Given the description of an element on the screen output the (x, y) to click on. 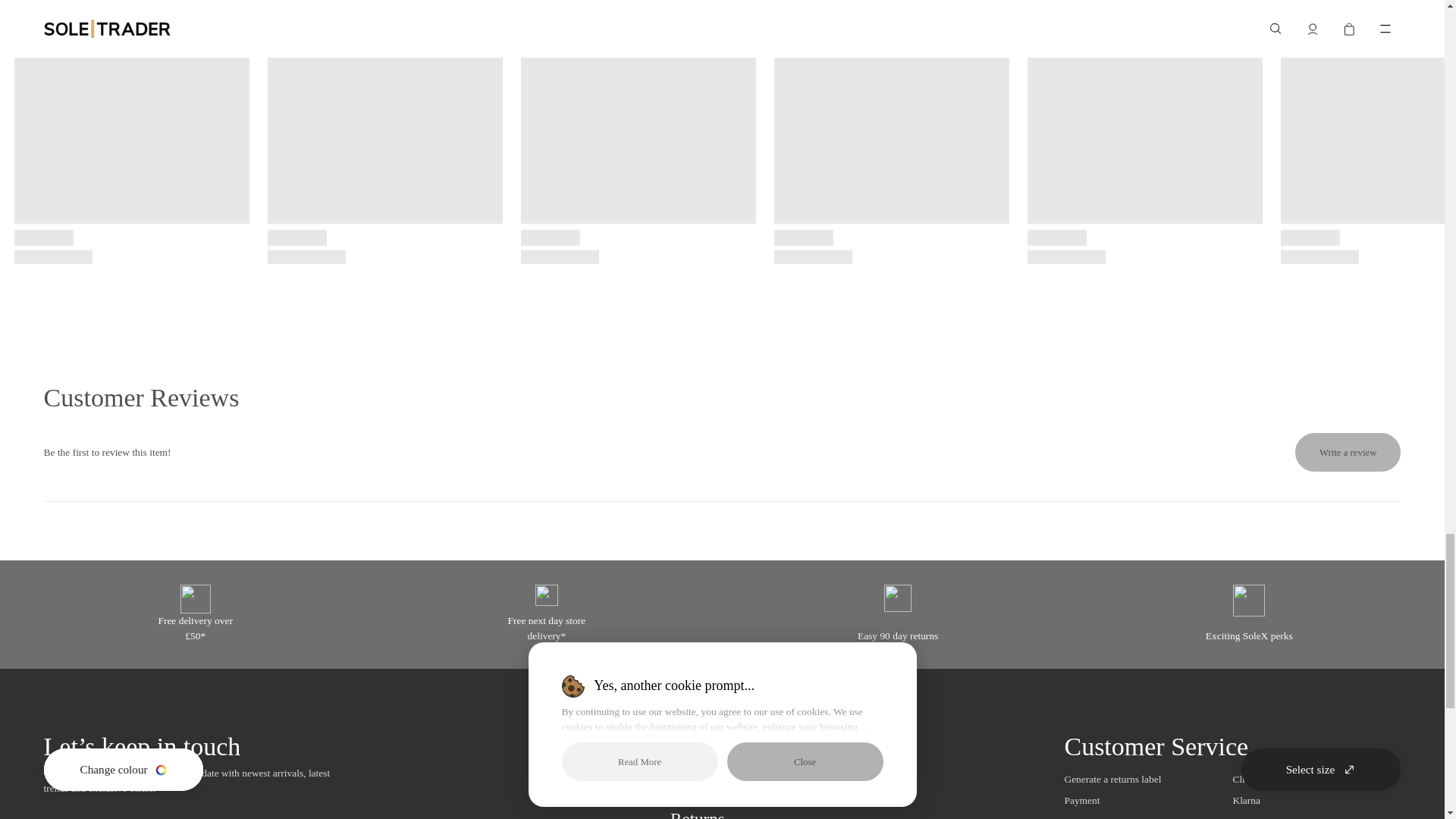
Write a review (1347, 452)
Returns (697, 814)
Stores (691, 766)
About us (701, 740)
Delivery (700, 792)
